Given the description of an element on the screen output the (x, y) to click on. 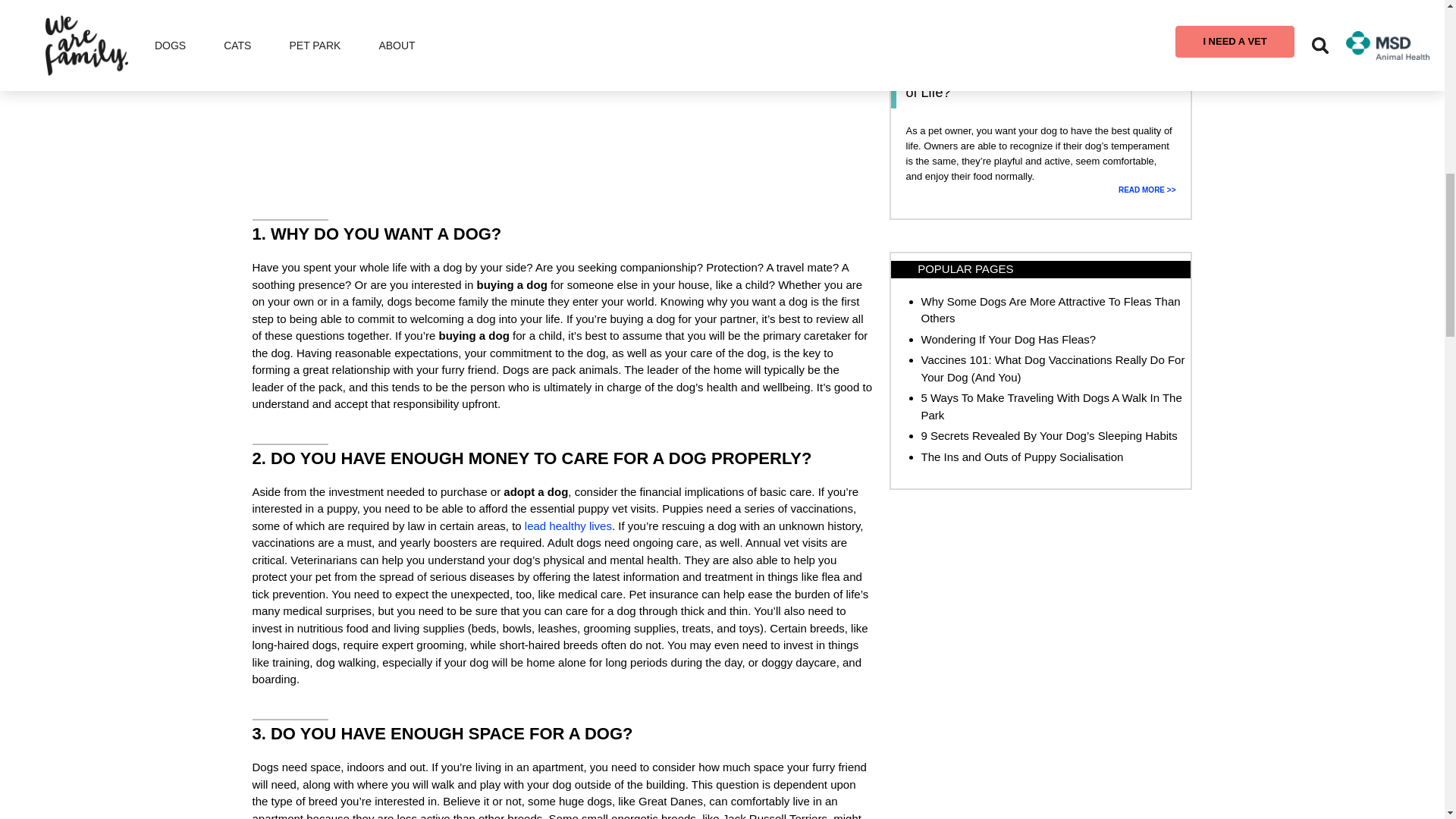
lead healthy lives (567, 525)
